Given the description of an element on the screen output the (x, y) to click on. 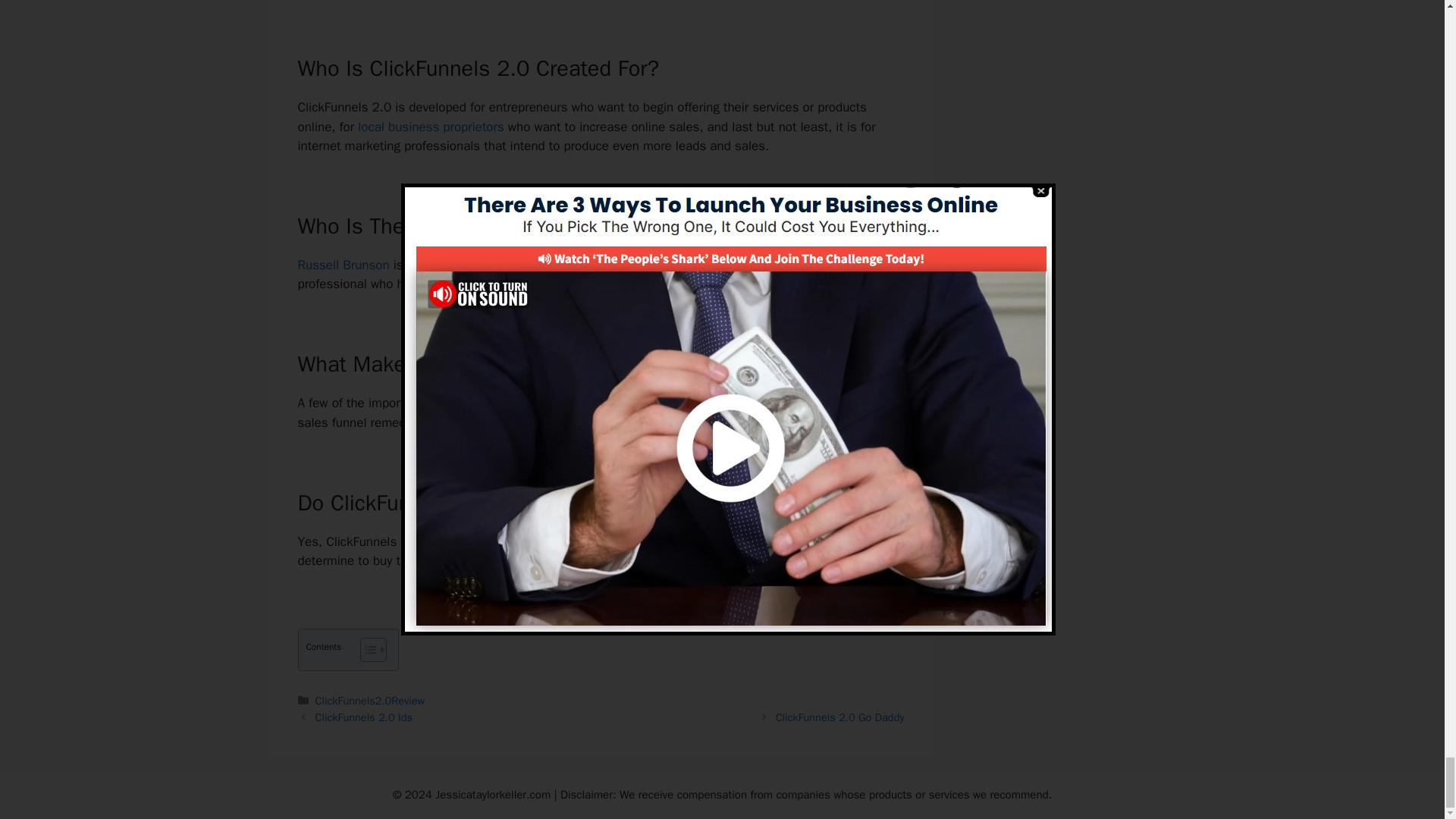
Russell Brunson (342, 264)
local business proprietors (430, 126)
